Given the description of an element on the screen output the (x, y) to click on. 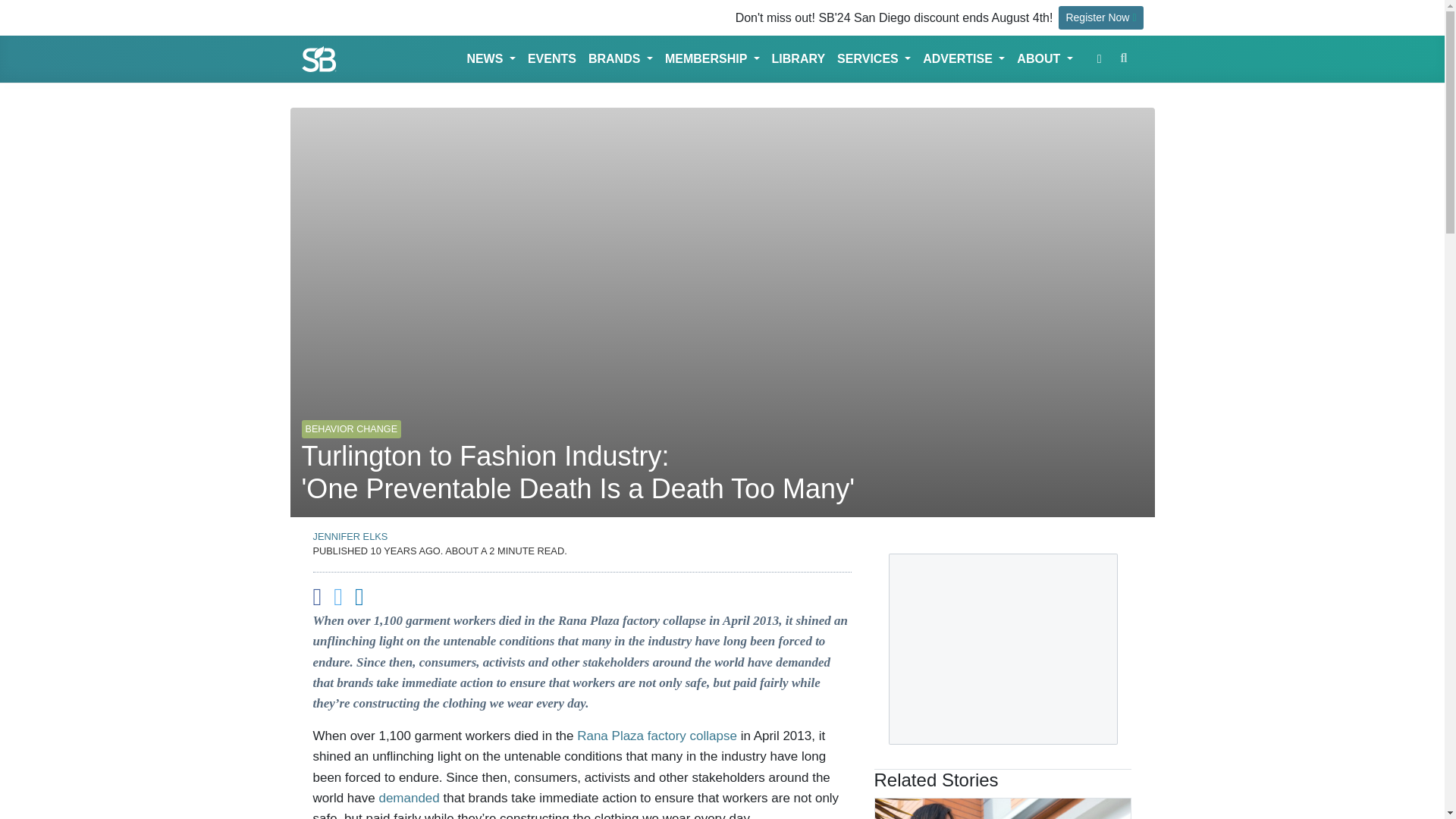
ABOUT (1044, 59)
Search the Site (1123, 58)
BEHAVIOR CHANGE (351, 422)
BRANDS (620, 59)
NEWS (490, 59)
Register Now (1100, 17)
LIBRARY (798, 59)
SERVICES (874, 59)
MEMBERSHIP (712, 59)
demanded (408, 798)
ADVERTISE (963, 59)
Rana Plaza factory collapse (656, 735)
JENNIFER ELKS (350, 536)
EVENTS (551, 59)
